Given the description of an element on the screen output the (x, y) to click on. 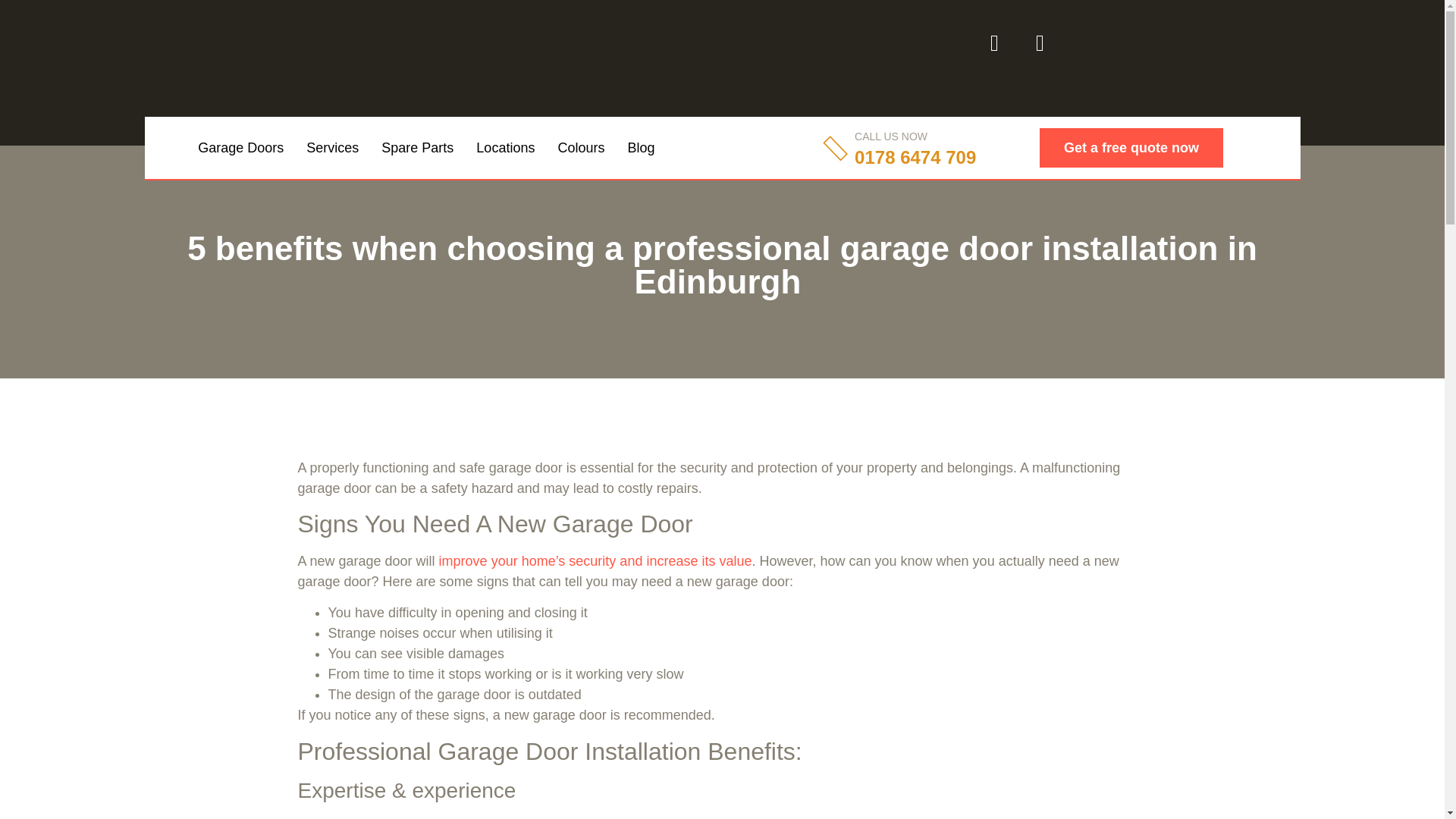
Services (332, 147)
Garage Doors (240, 147)
Locations (505, 147)
Spare Parts (416, 147)
